Given the description of an element on the screen output the (x, y) to click on. 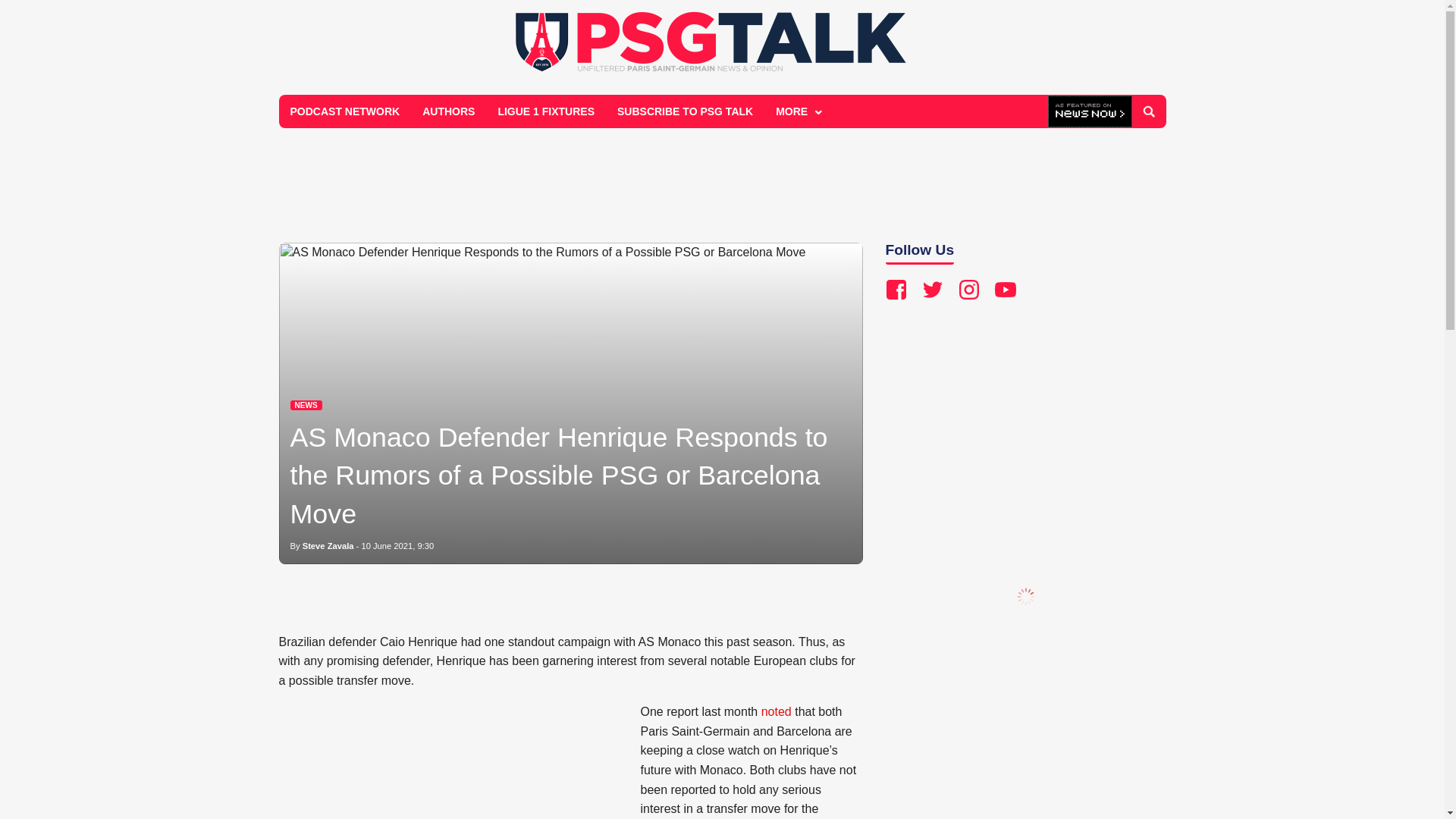
MORE (796, 111)
SUBSCRIBE TO PSG TALK (684, 111)
NEWS (305, 405)
noted (776, 711)
LIGUE 1 FIXTURES (545, 111)
Latest News News (305, 405)
PODCAST NETWORK (345, 111)
Search (1147, 111)
Steve Zavala (327, 545)
Click here for more PSG news from NewsNow (1090, 111)
